Given the description of an element on the screen output the (x, y) to click on. 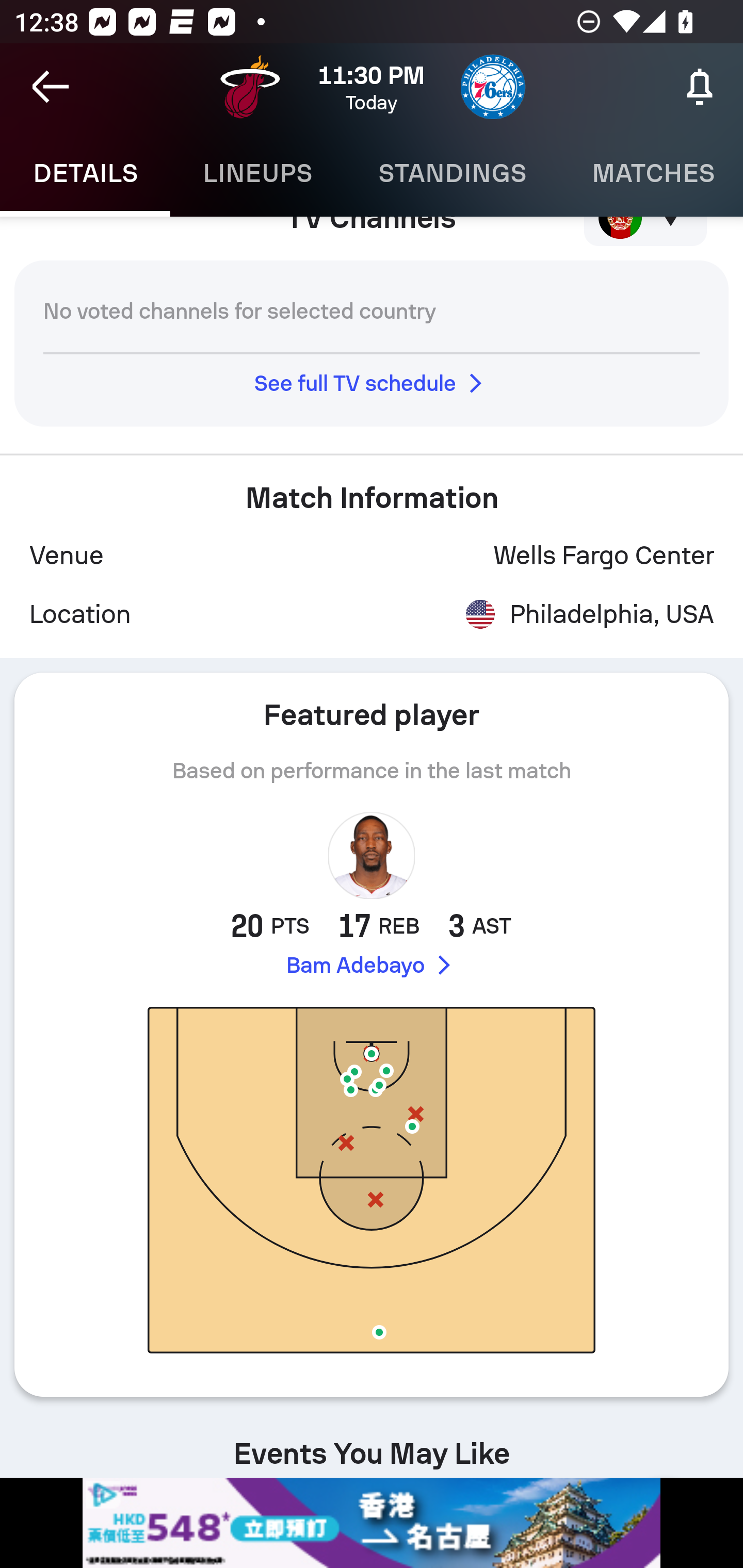
Navigate up (50, 86)
Lineups LINEUPS (257, 173)
Standings STANDINGS (451, 173)
Matches MATCHES (650, 173)
See full TV schedule (371, 383)
Events You May Like (371, 1444)
ysfecx5i_320x50 (371, 1522)
